Given the description of an element on the screen output the (x, y) to click on. 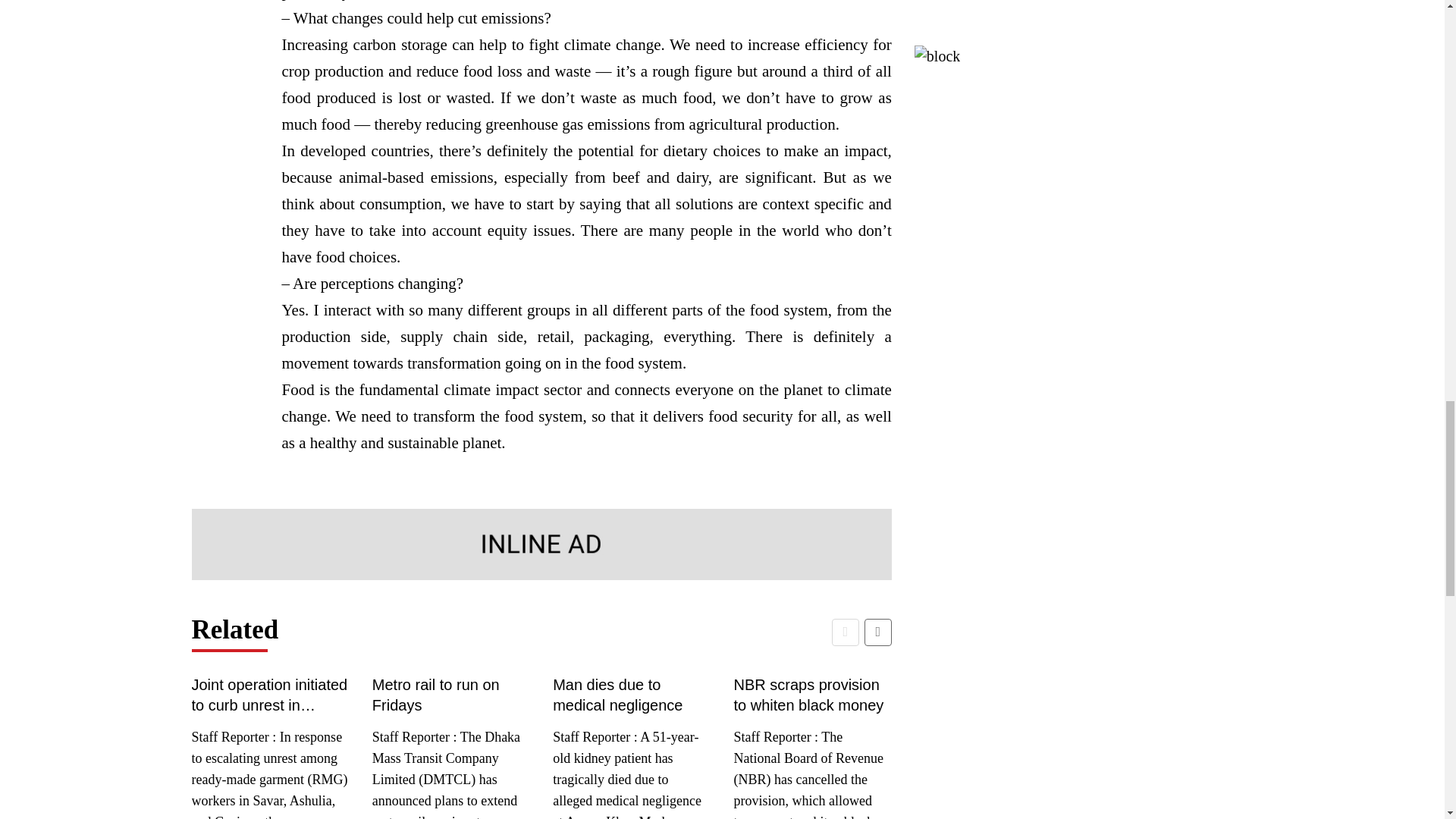
Man dies due to medical negligence (631, 694)
Metro rail to run on Fridays (450, 694)
Joint operation initiated to curb unrest in industrial areas (269, 694)
NBR scraps provision to whiten black money (812, 694)
